Given the description of an element on the screen output the (x, y) to click on. 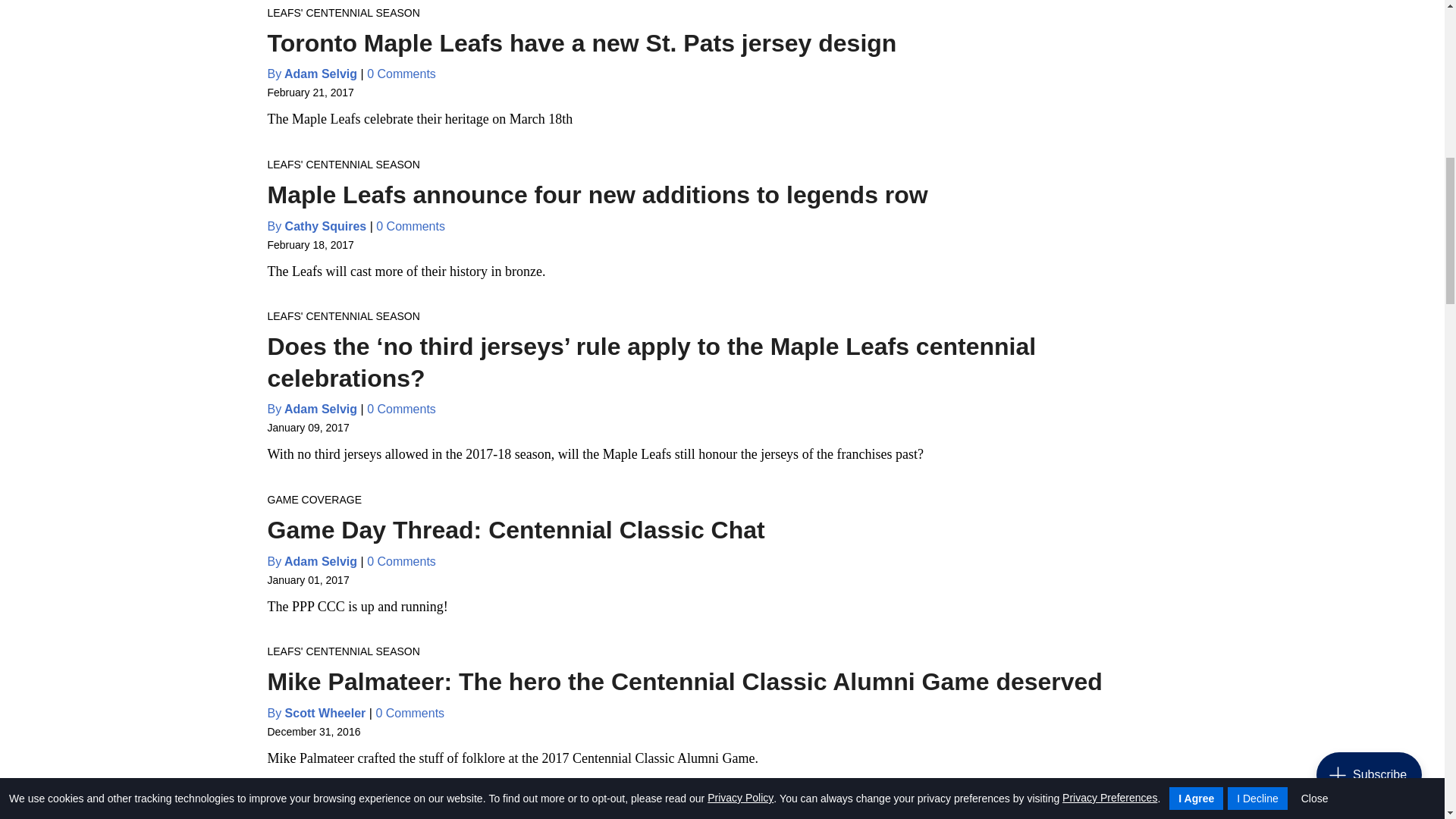
09 January, 2017 (307, 427)
31 December, 2016 (312, 731)
18 February, 2017 (309, 244)
21 February, 2017 (309, 92)
01 January, 2017 (307, 579)
